Given the description of an element on the screen output the (x, y) to click on. 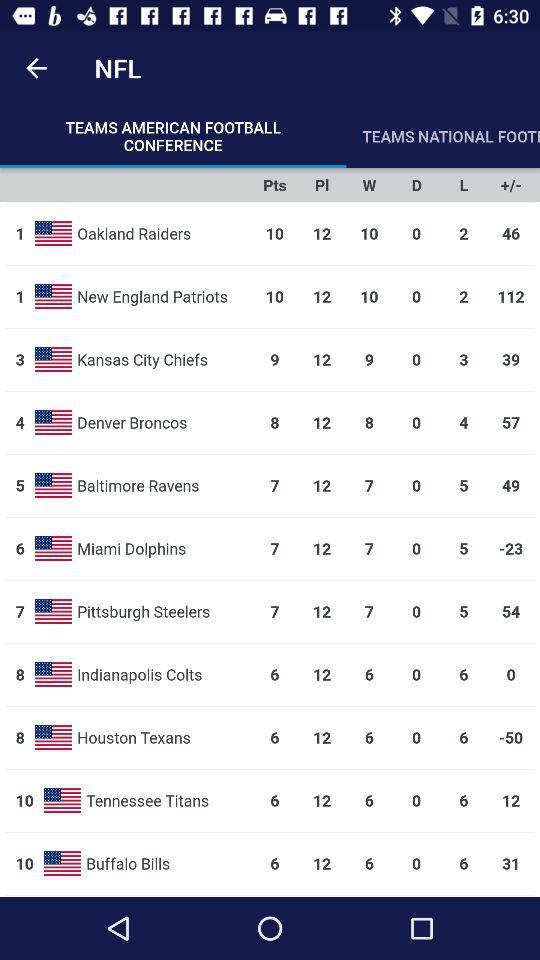
press the icon next to the nfl icon (36, 68)
